Given the description of an element on the screen output the (x, y) to click on. 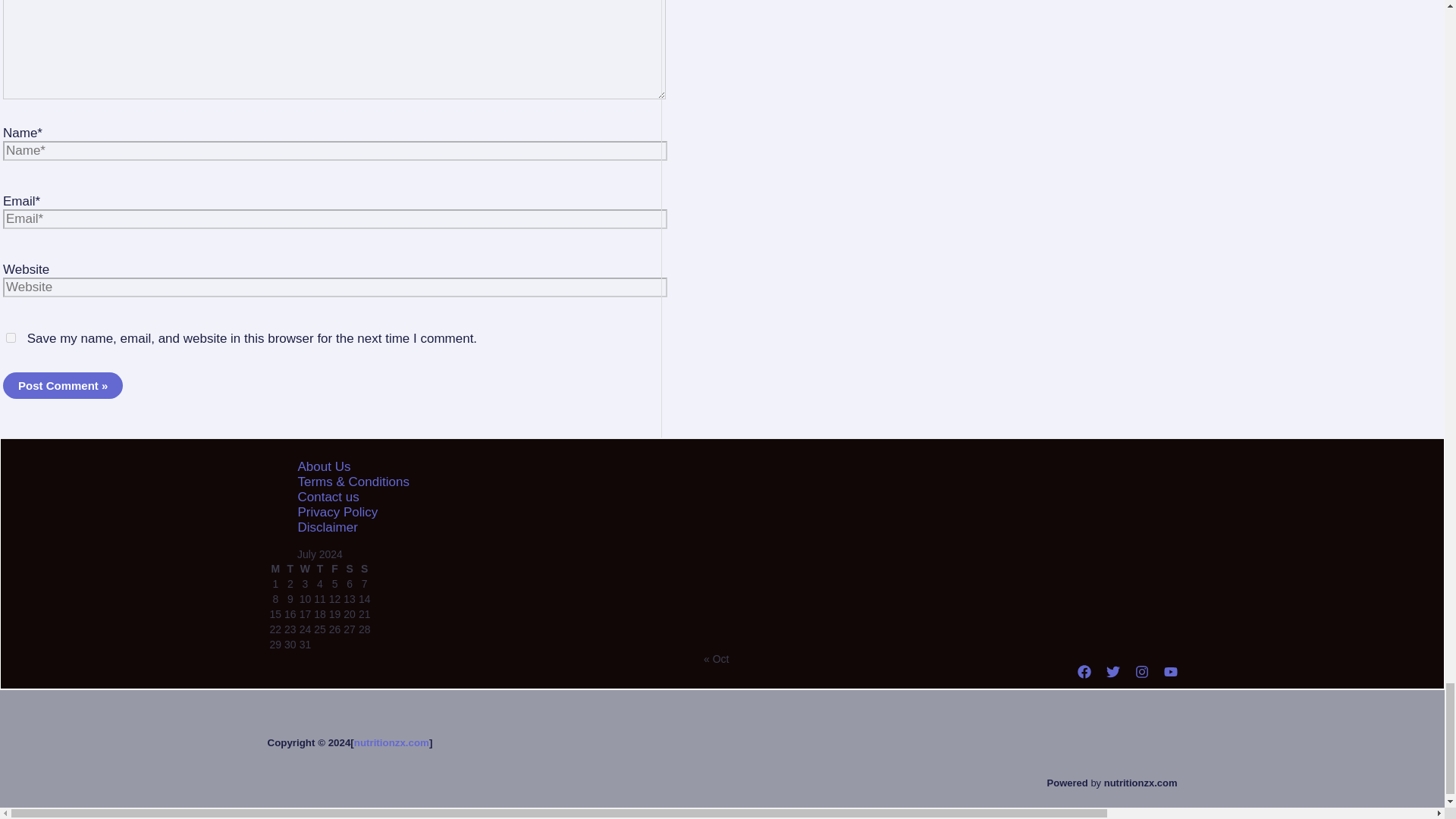
Monday (274, 568)
Friday (335, 568)
Wednesday (305, 568)
Tuesday (290, 568)
Thursday (319, 568)
yes (10, 337)
Saturday (349, 568)
Sunday (364, 568)
